Given the description of an element on the screen output the (x, y) to click on. 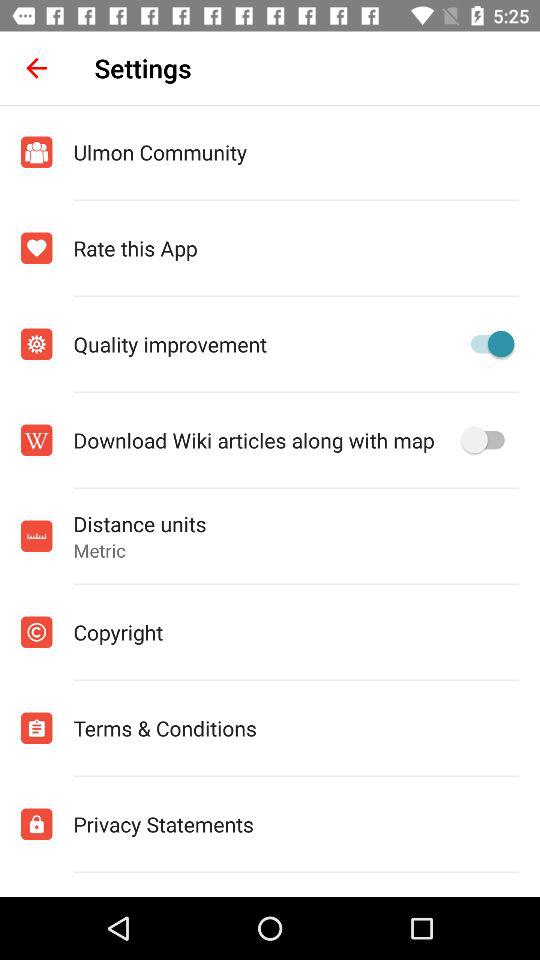
tap the item to the left of the settings icon (36, 68)
